Given the description of an element on the screen output the (x, y) to click on. 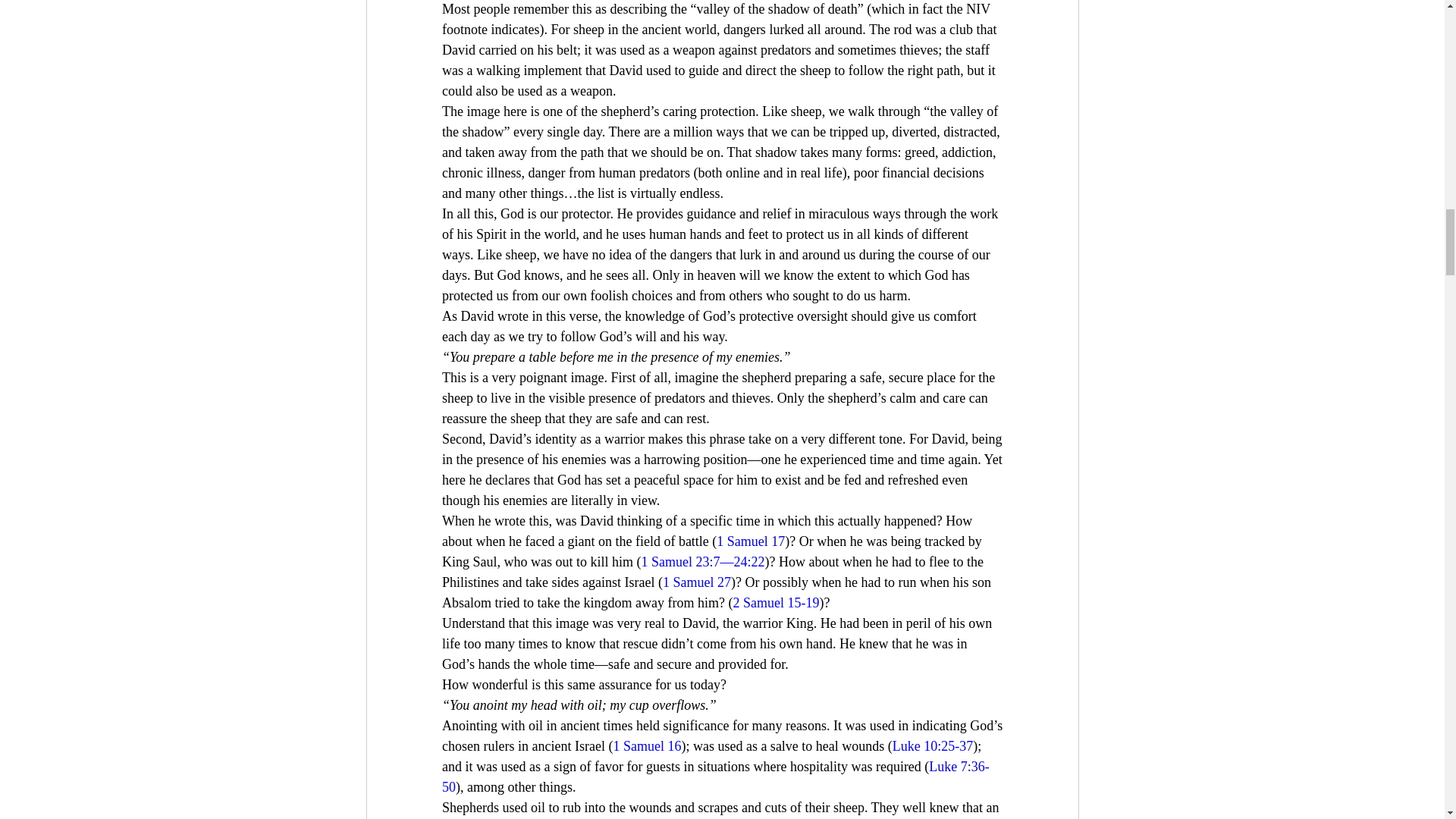
1 Samuel 16 (646, 745)
2 Samuel 15-19 (775, 602)
Luke 7:36-50 (714, 776)
1 Samuel 17 (750, 540)
Luke 10:25-37 (931, 745)
1 Samuel 27 (696, 581)
